Given the description of an element on the screen output the (x, y) to click on. 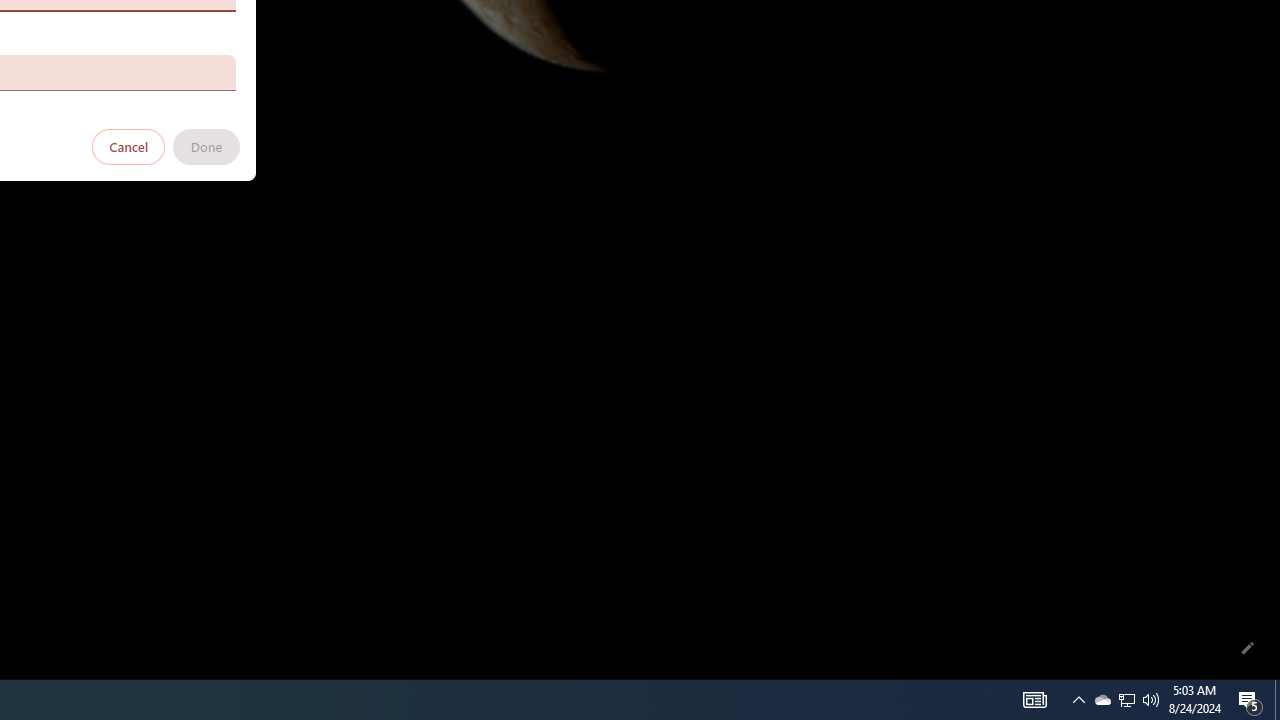
Done (206, 146)
Cancel (129, 146)
